Given the description of an element on the screen output the (x, y) to click on. 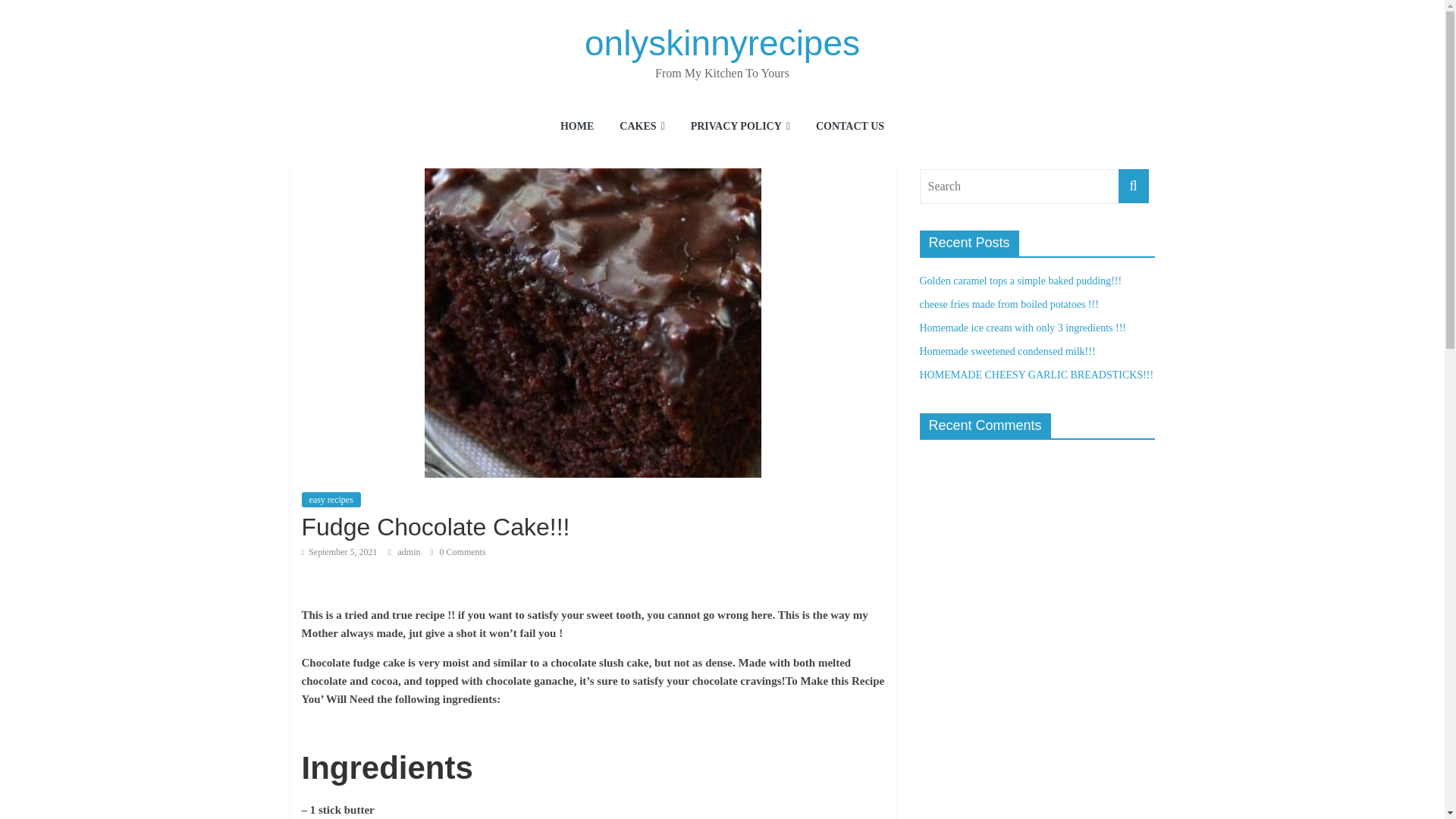
onlyskinnyrecipes (722, 43)
onlyskinnyrecipes (722, 43)
0 Comments (458, 552)
HOMEMADE CHEESY GARLIC BREADSTICKS!!! (1035, 374)
easy recipes (331, 499)
September 5, 2021 (339, 552)
CAKES (641, 126)
Golden caramel tops a simple baked pudding!!! (1019, 280)
admin (410, 552)
PRIVACY POLICY (740, 126)
CONTACT US (850, 126)
cheese fries made from boiled potatoes !!! (1007, 304)
3:52 pm (339, 552)
admin (410, 552)
Homemade ice cream with only 3 ingredients !!! (1021, 327)
